Given the description of an element on the screen output the (x, y) to click on. 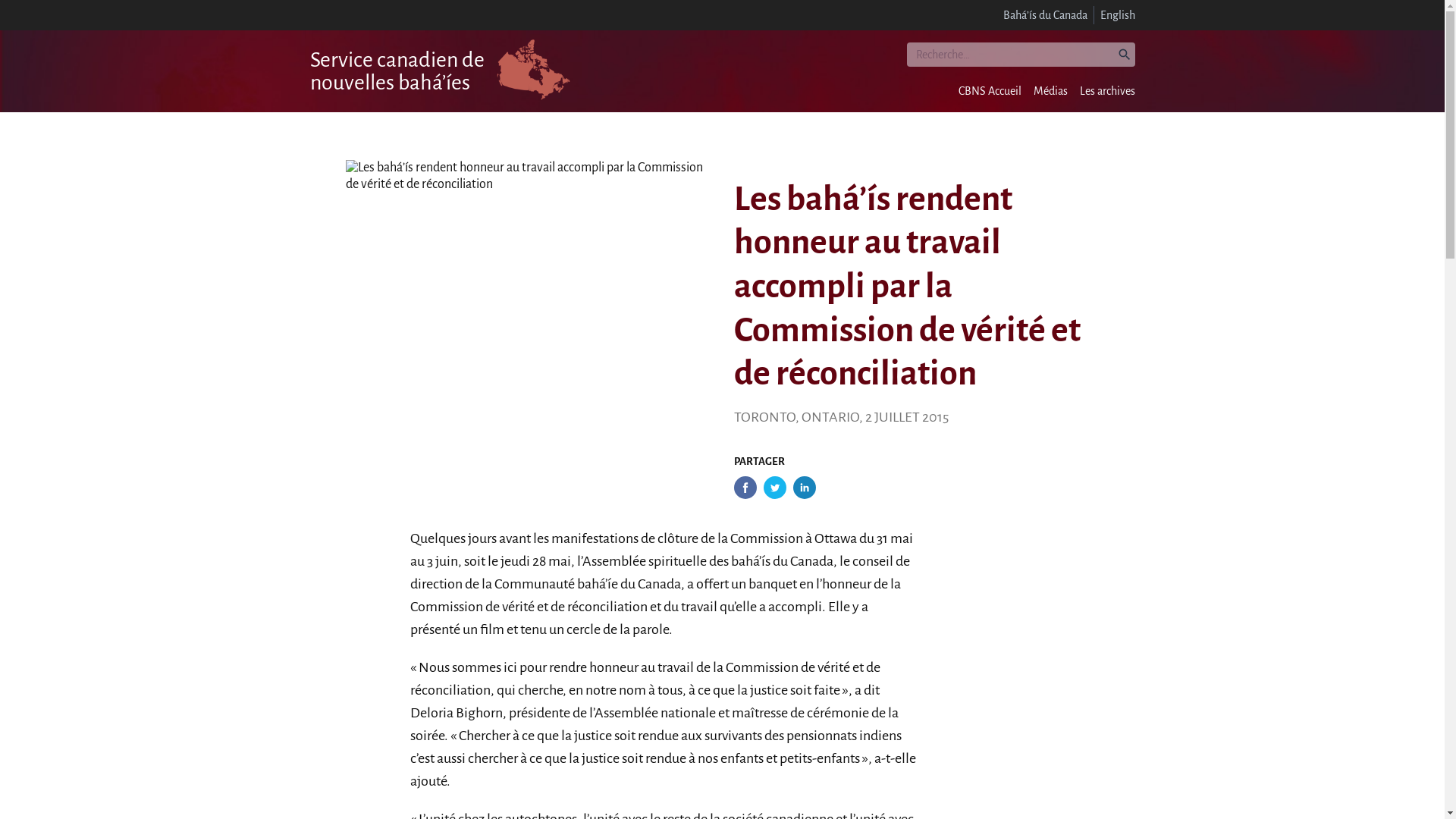
CBNS Accueil Element type: text (989, 90)
English Element type: text (1116, 15)
Search Element type: text (15, 9)
Recherche Element type: hover (1020, 54)
Les archives Element type: text (1107, 90)
